Given the description of an element on the screen output the (x, y) to click on. 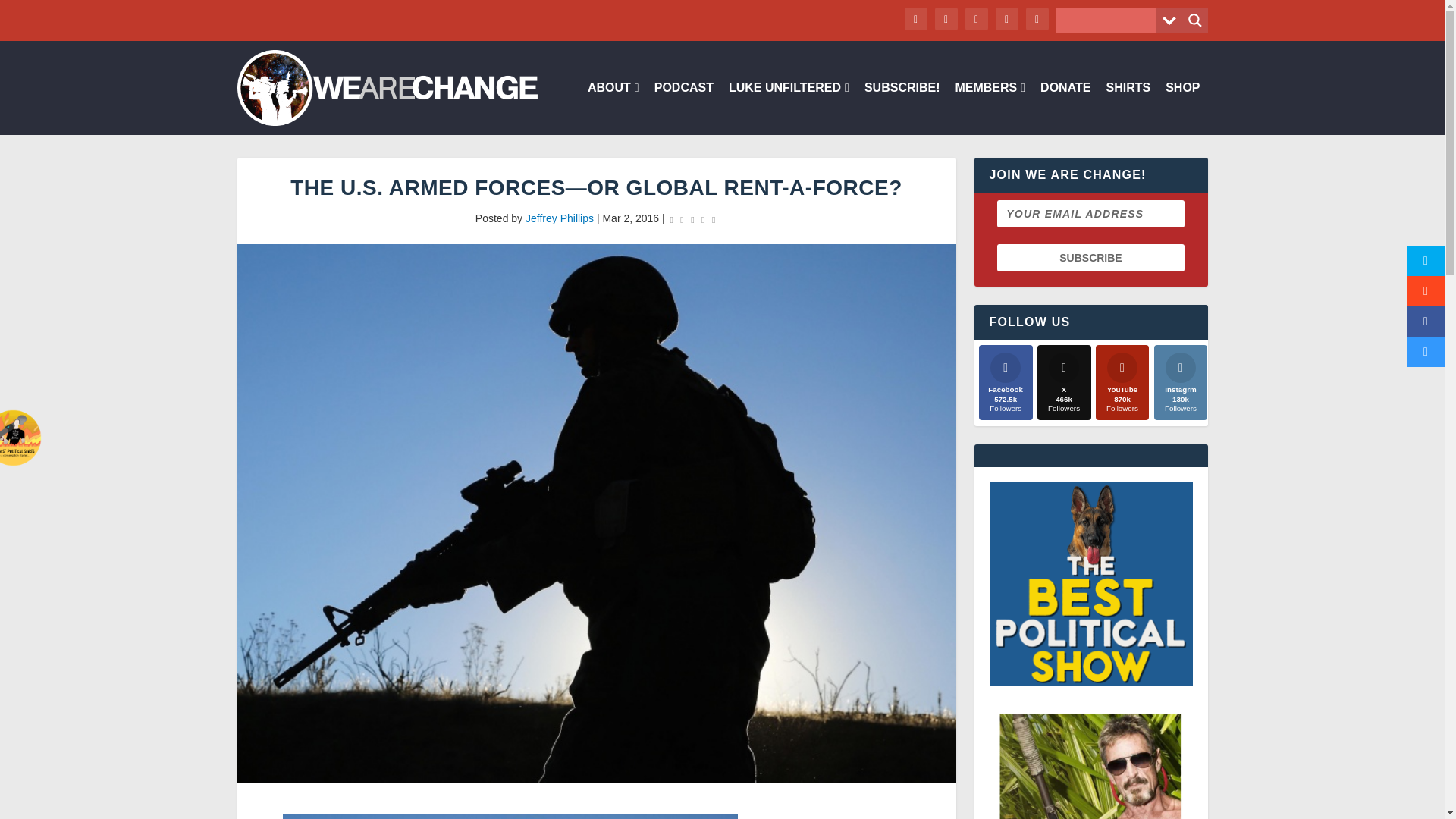
MEMBERS (990, 108)
SUBSCRIBE! (902, 108)
About (613, 108)
Jeffrey Phillips (559, 218)
LUKE UNFILTERED (788, 108)
Posts by Jeffrey Phillips (559, 218)
ABOUT (613, 108)
DONATE (1065, 108)
Subscribe (1090, 257)
Rating: 0.00 (692, 219)
